Given the description of an element on the screen output the (x, y) to click on. 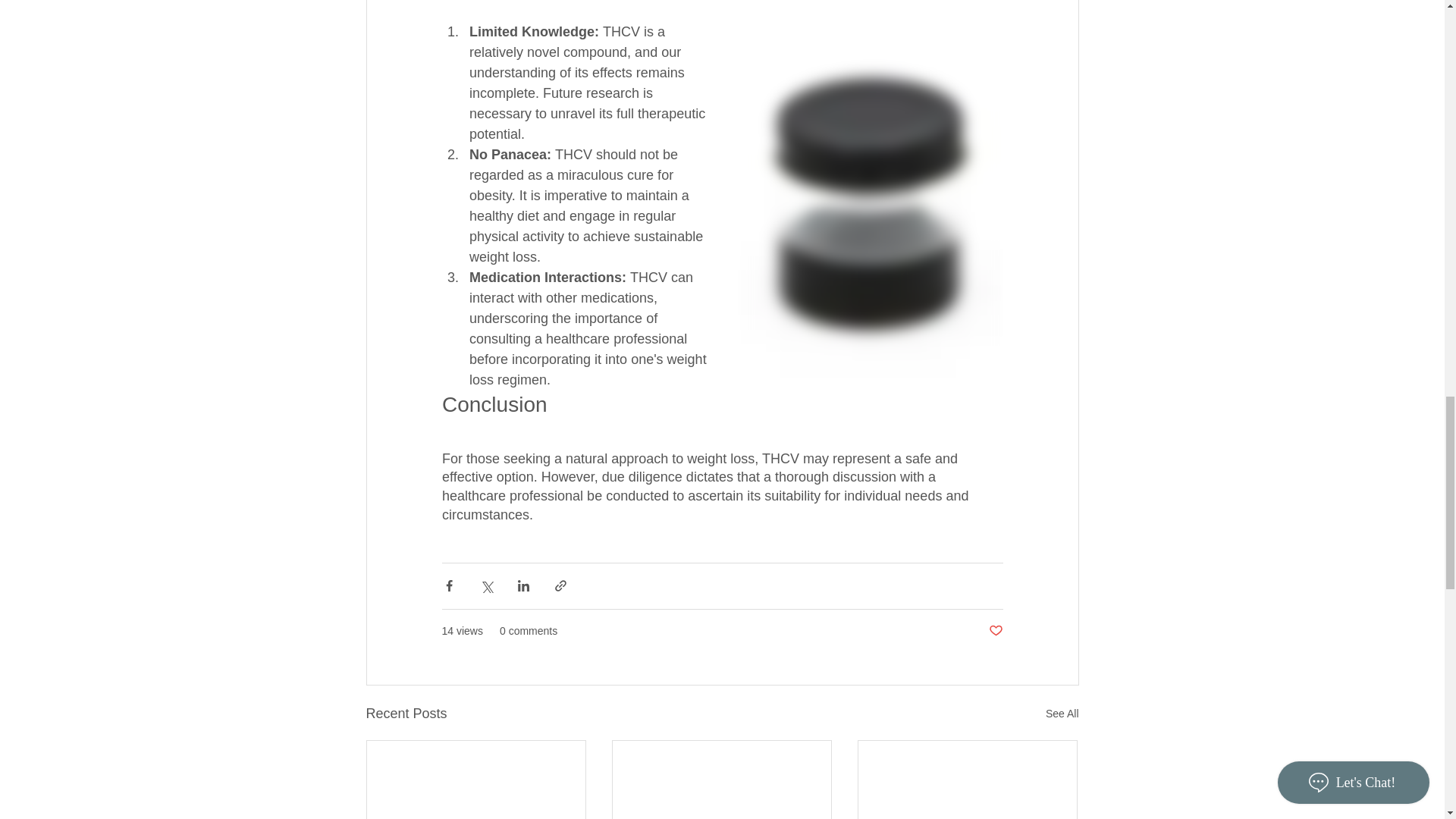
Post not marked as liked (995, 631)
See All (1061, 713)
